Given the description of an element on the screen output the (x, y) to click on. 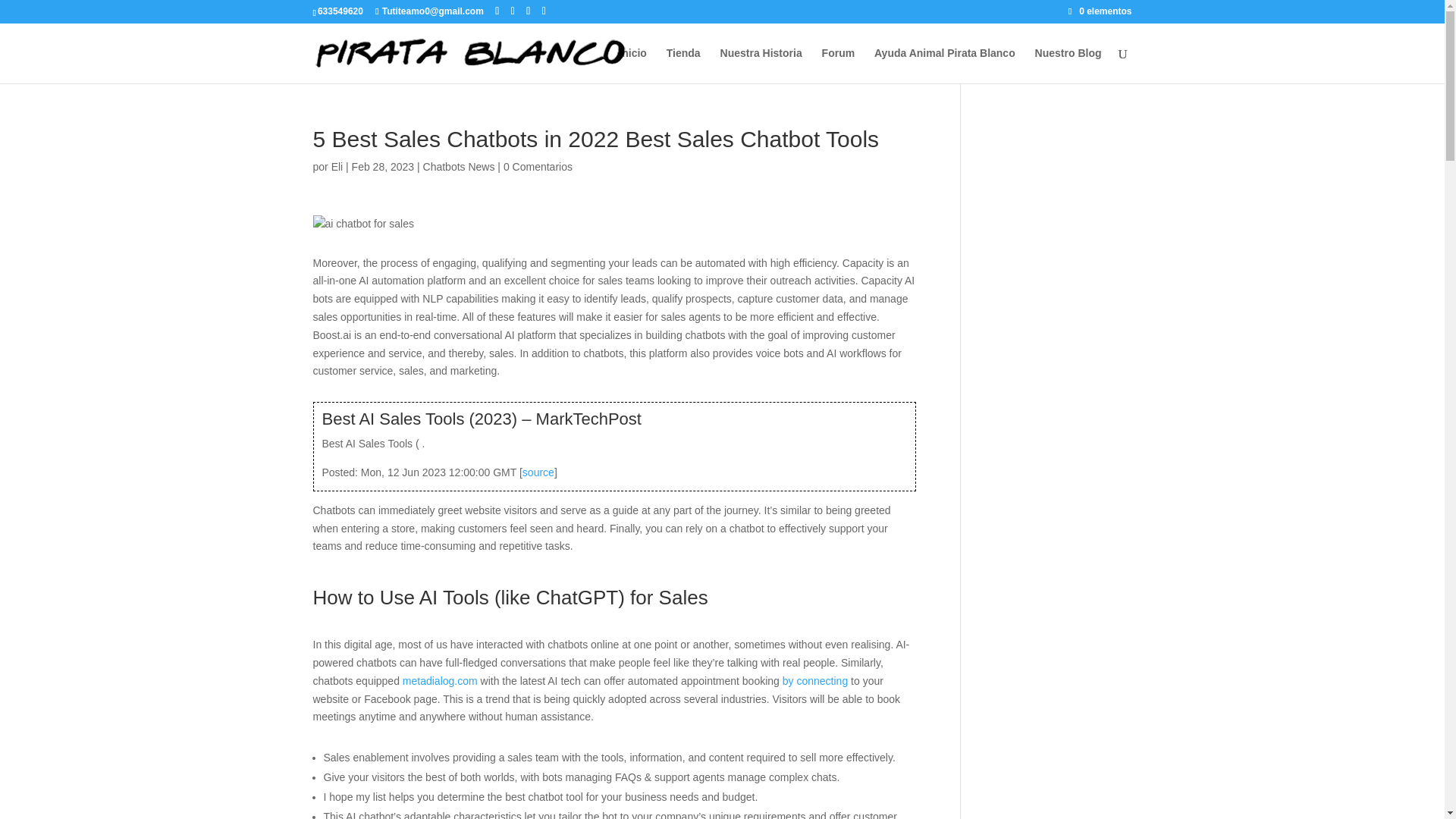
Eli (337, 166)
Chatbots News (459, 166)
Forum (839, 65)
Nuestro Blog (1068, 65)
0 Comentarios (537, 166)
0 elementos (1100, 10)
Tienda (683, 65)
source (538, 472)
Nuestra Historia (761, 65)
Mensajes de Eli (337, 166)
